Given the description of an element on the screen output the (x, y) to click on. 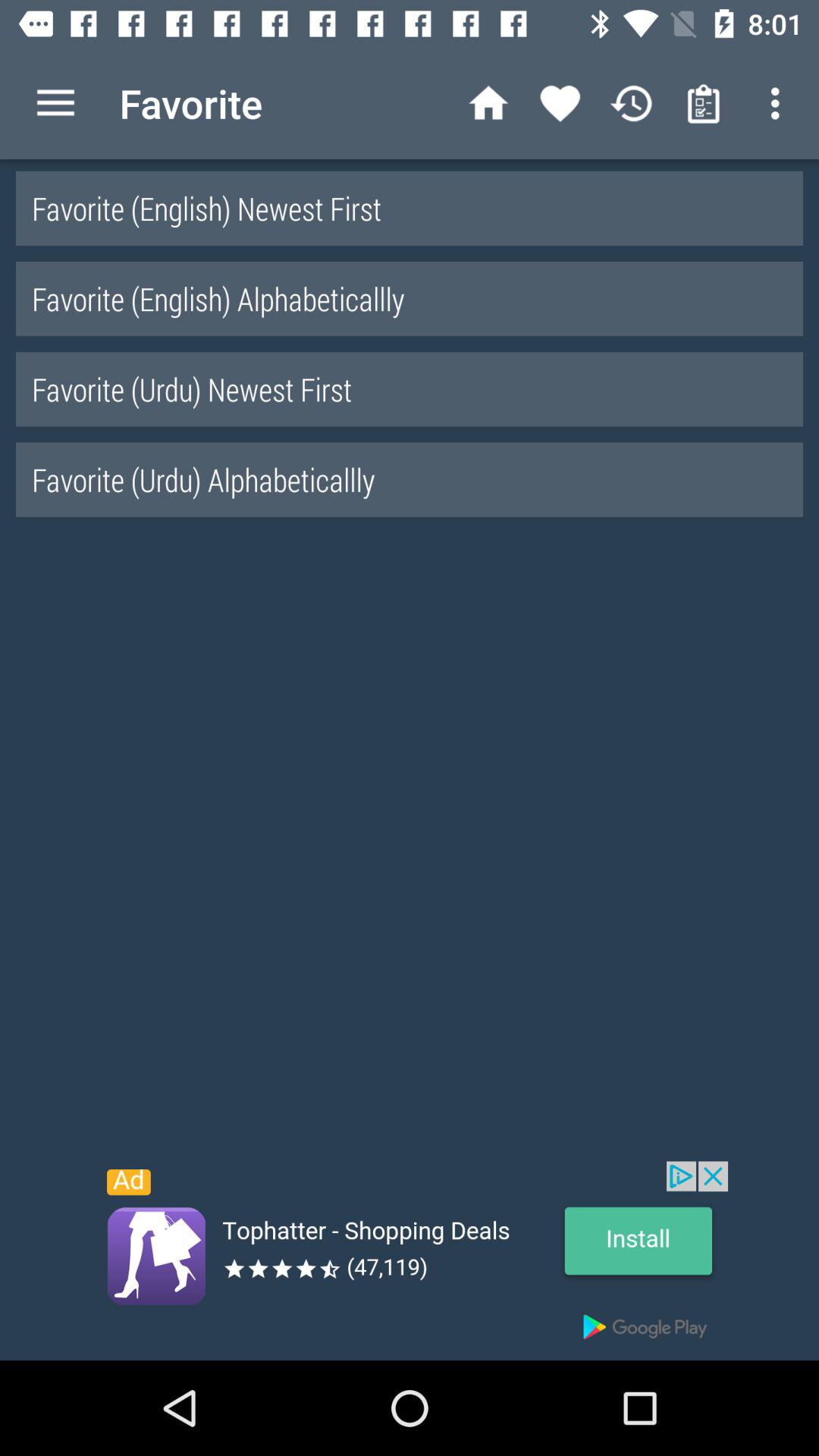
advertisement (409, 1260)
